Given the description of an element on the screen output the (x, y) to click on. 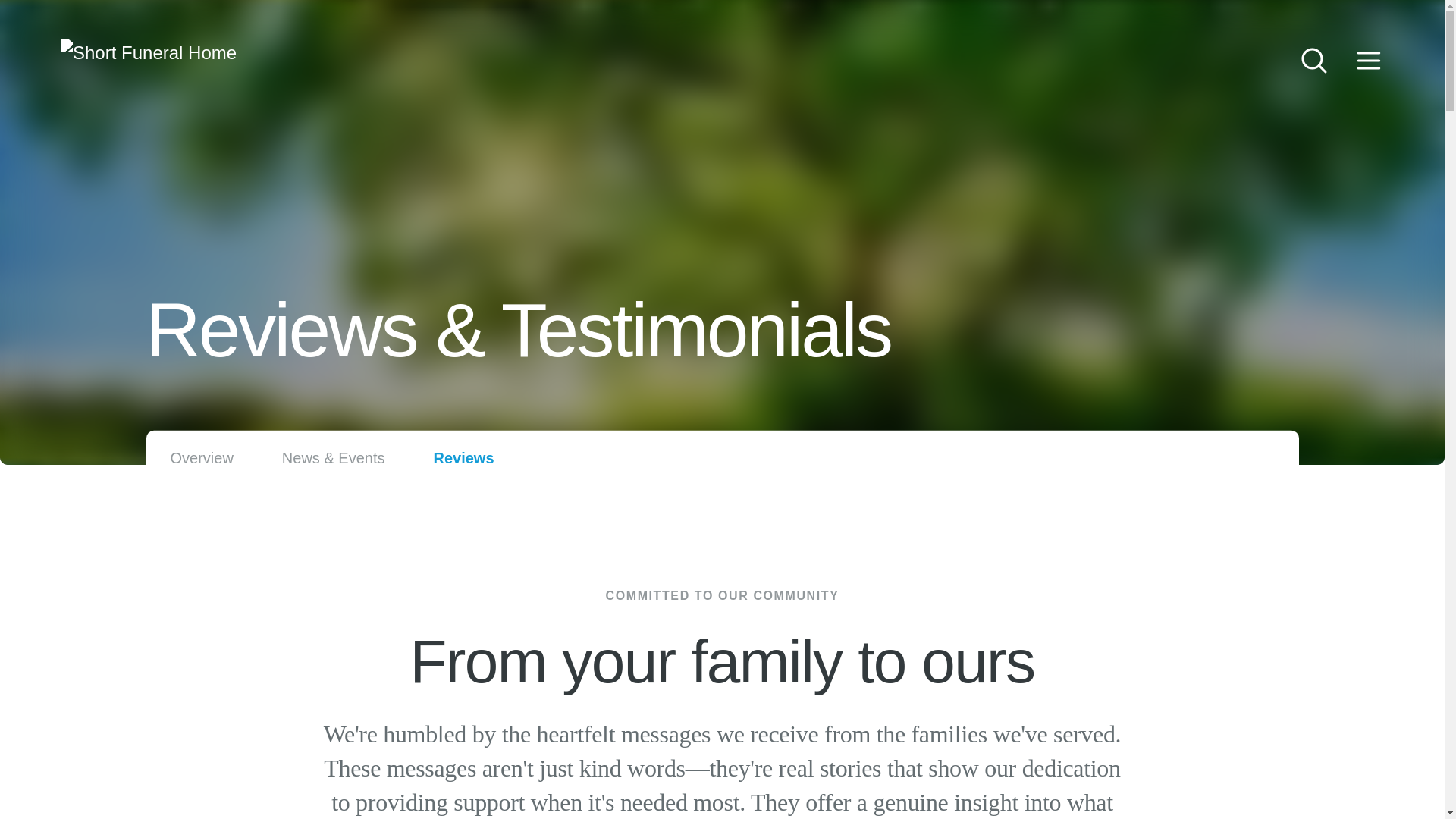
Overview (201, 458)
Reviews (462, 458)
Skip to content (30, 15)
